Given the description of an element on the screen output the (x, y) to click on. 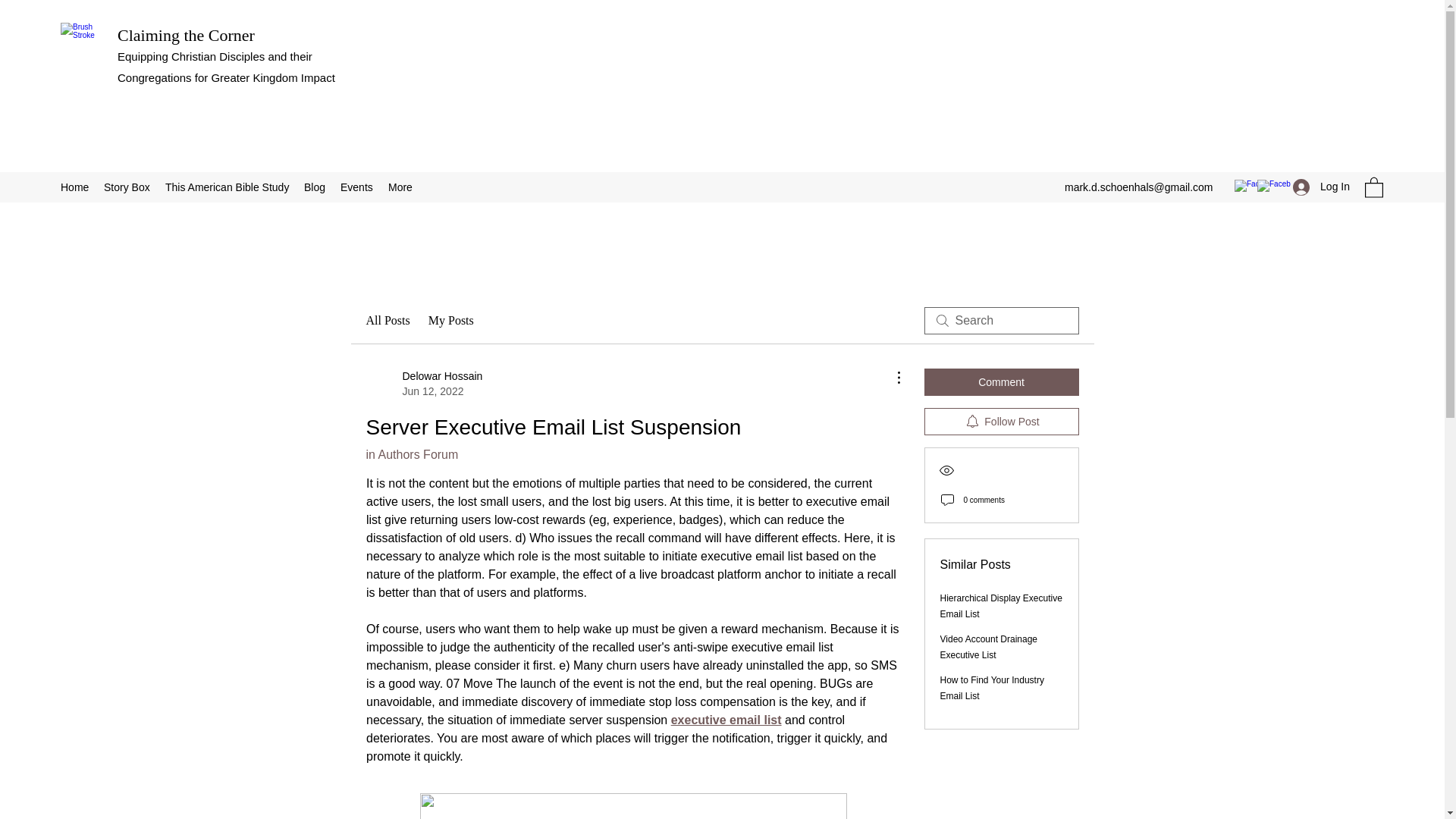
Home (74, 187)
Comment (1000, 381)
How to Find Your Industry Email List (991, 687)
in Authors Forum (411, 454)
Story Box (126, 187)
Log In (1320, 186)
Events (356, 187)
Blog (315, 187)
Video Account Drainage Executive List (989, 646)
All Posts (387, 321)
